Given the description of an element on the screen output the (x, y) to click on. 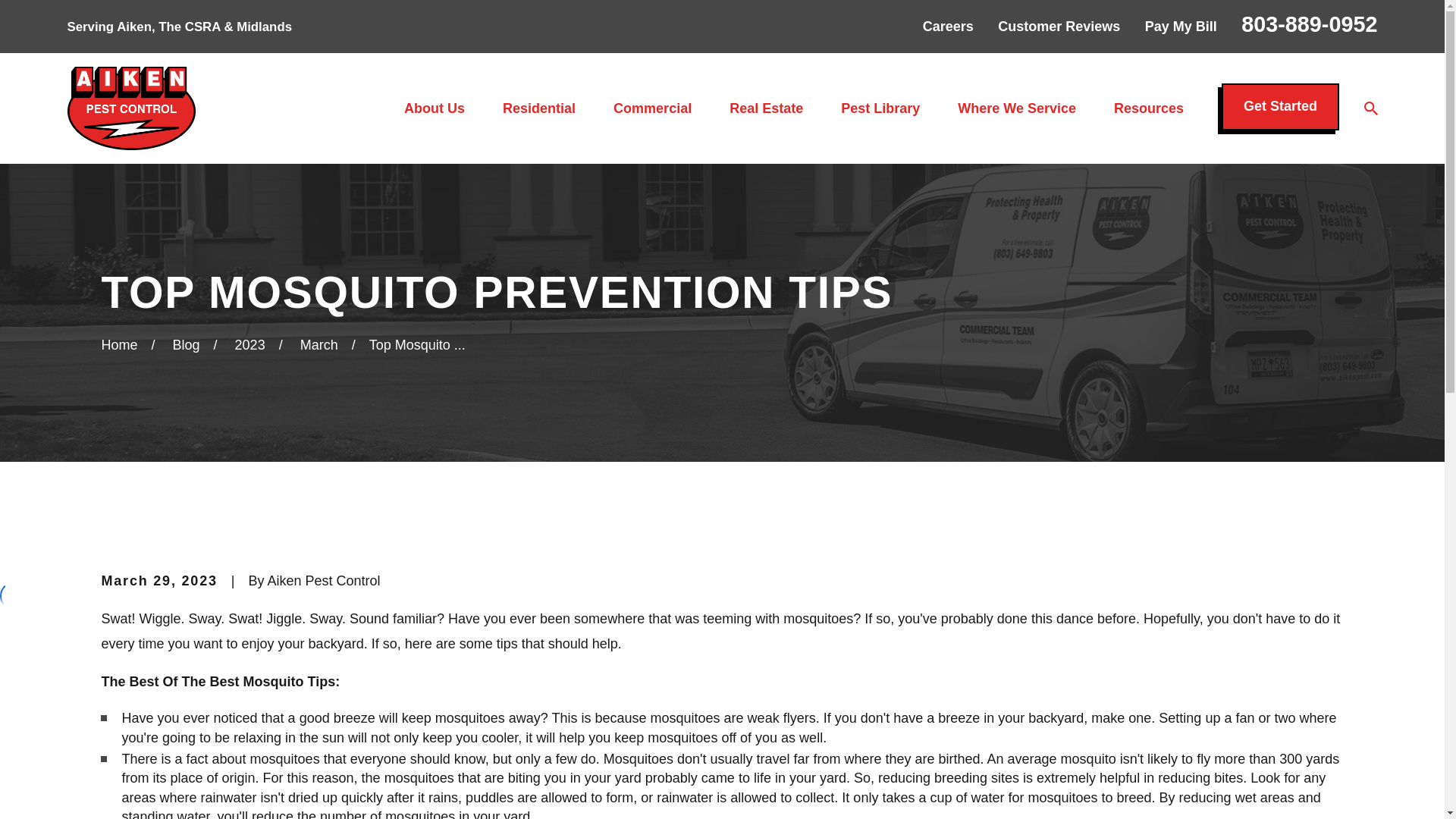
Pay My Bill (1180, 26)
Google Review Widget (14, 595)
Pest Library (880, 108)
About Us (434, 108)
Real Estate (766, 108)
Go Home (118, 344)
Customer Reviews (1058, 26)
Residential (538, 108)
Careers (948, 26)
803-889-0952 (1309, 24)
